Given the description of an element on the screen output the (x, y) to click on. 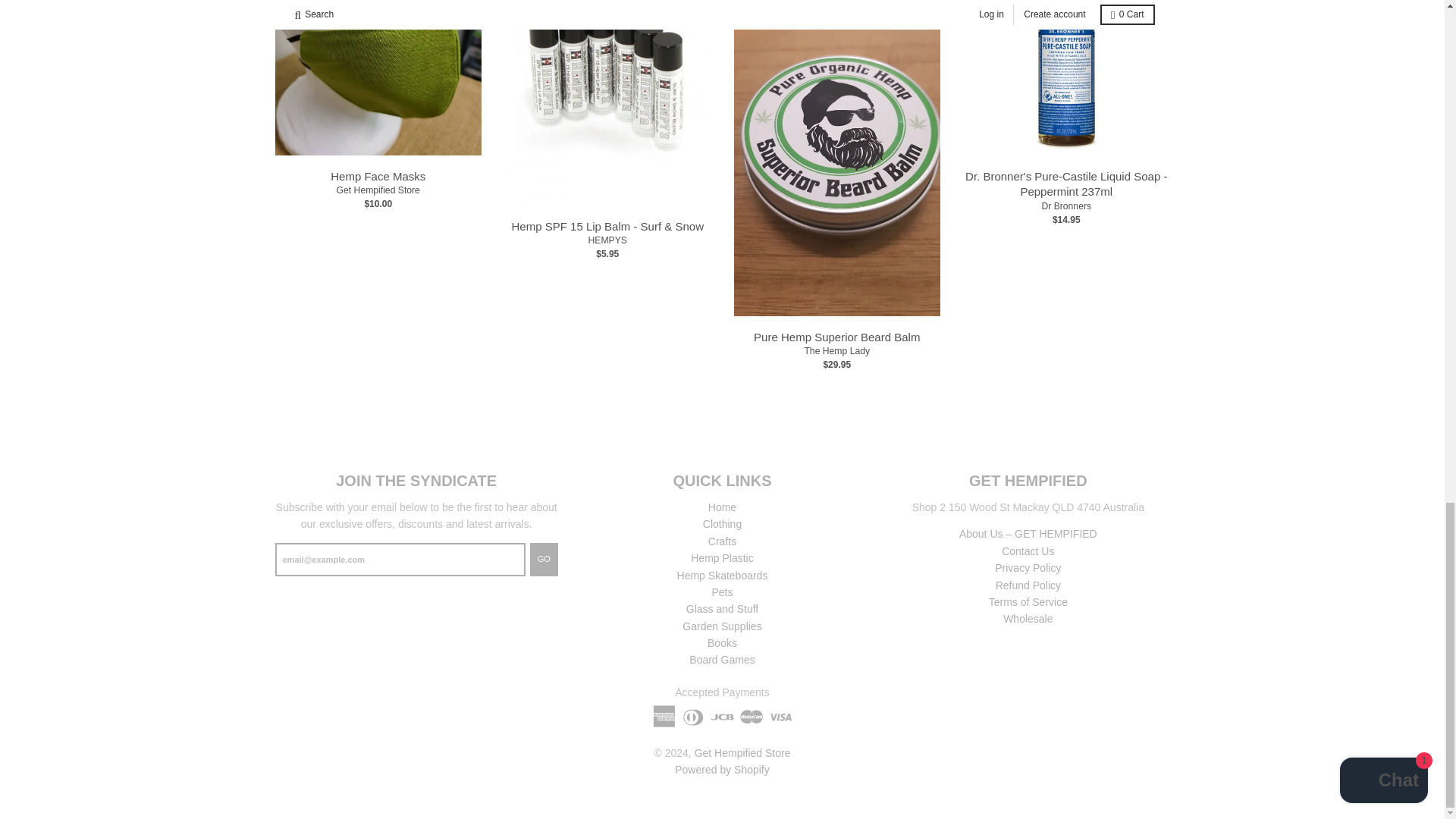
Get Hempified Store (378, 190)
HEMPYS (607, 240)
The Hemp Lady (836, 350)
Dr Bronners (1065, 205)
